Given the description of an element on the screen output the (x, y) to click on. 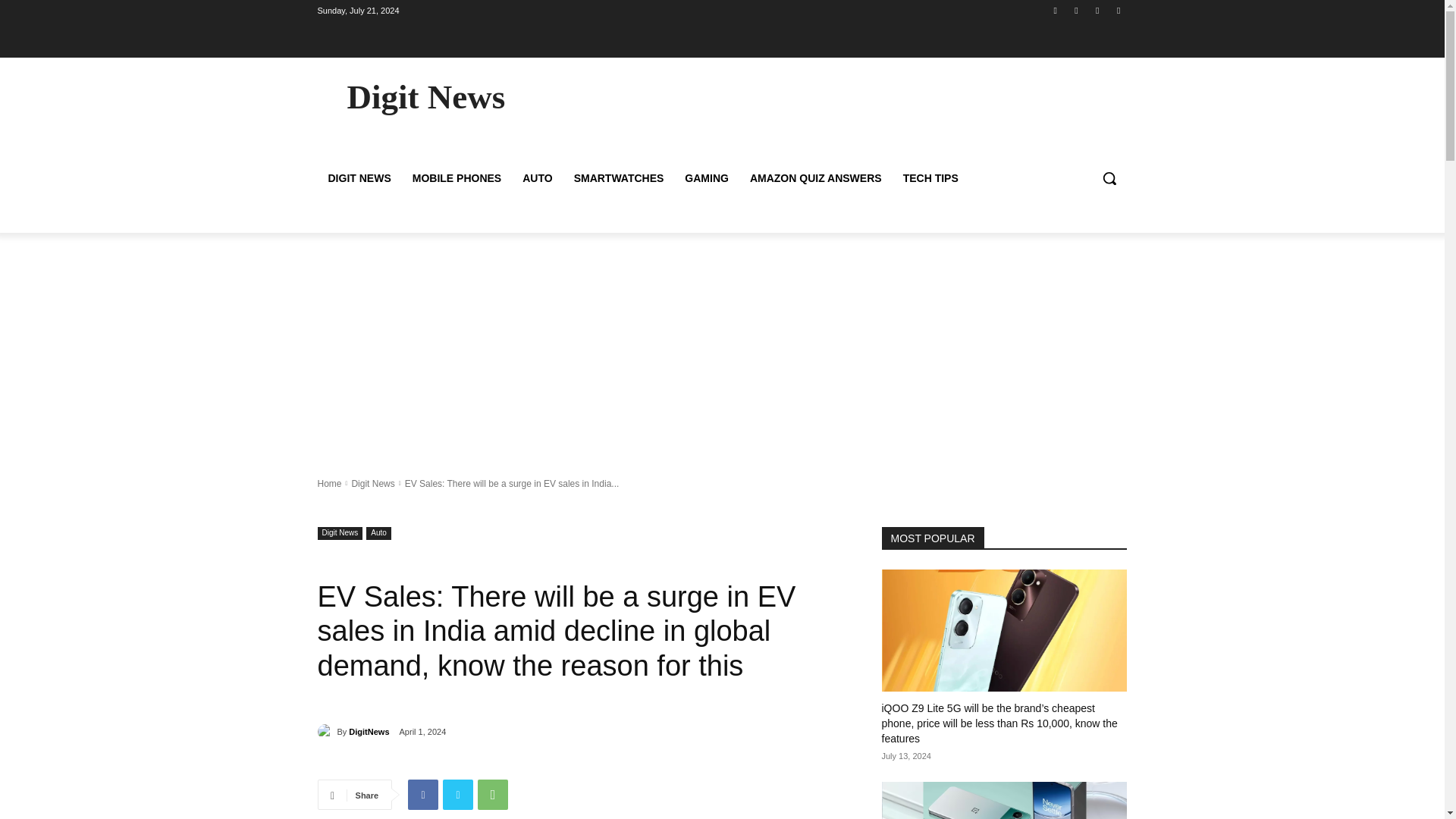
DigitNews (326, 731)
SMARTWATCHES (619, 176)
AMAZON QUIZ ANSWERS (815, 176)
Digit News (339, 532)
Facebook (1055, 9)
Twitter (457, 794)
GAMING (706, 176)
View all posts in Digit News (372, 482)
AUTO (537, 176)
DIGIT NEWS (359, 176)
Facebook (422, 794)
Home (328, 482)
MOBILE PHONES (456, 176)
WhatsApp (492, 794)
TECH TIPS (930, 176)
